Given the description of an element on the screen output the (x, y) to click on. 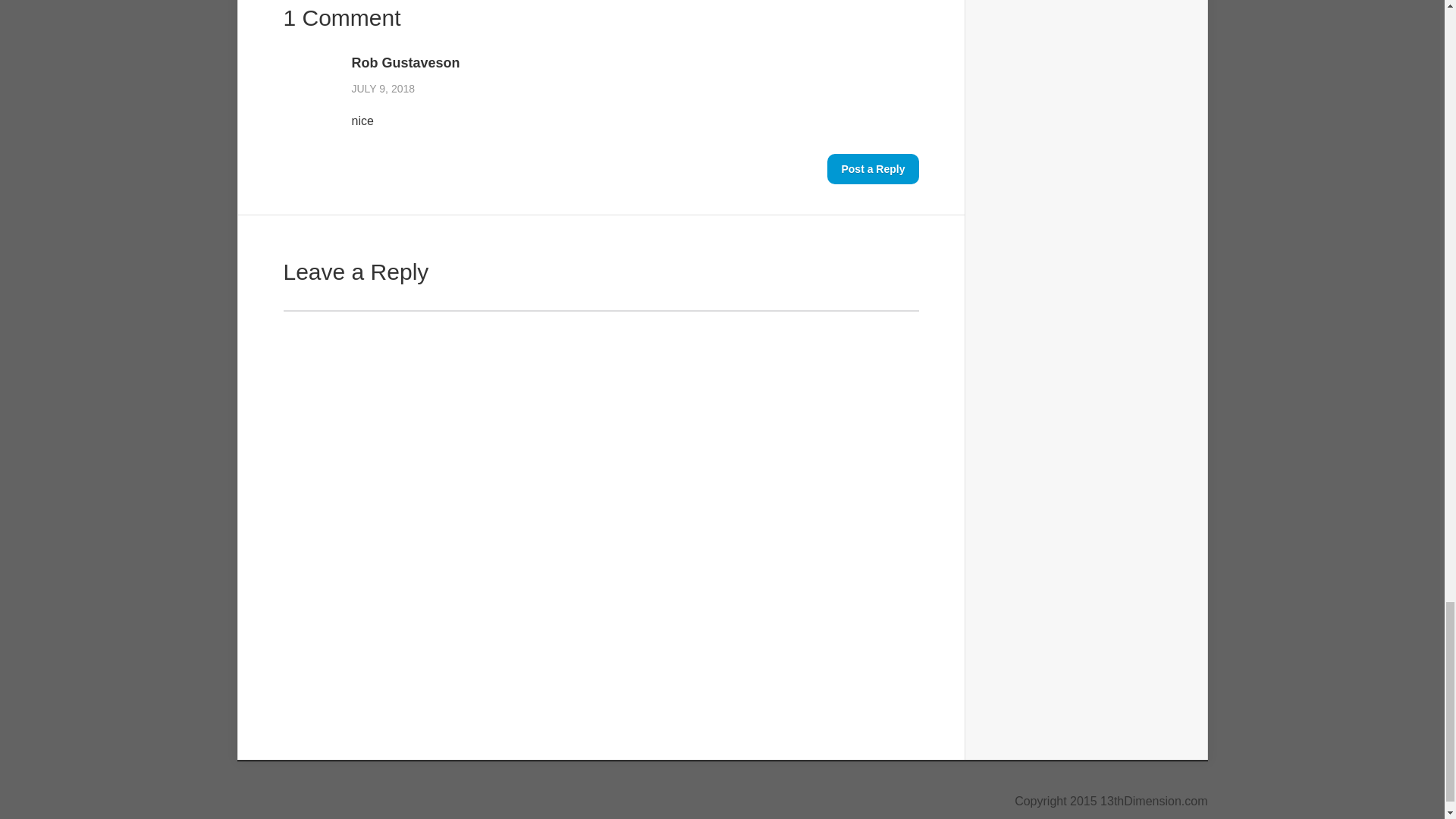
Rob Gustaveson (635, 62)
Post a Reply (872, 168)
